Given the description of an element on the screen output the (x, y) to click on. 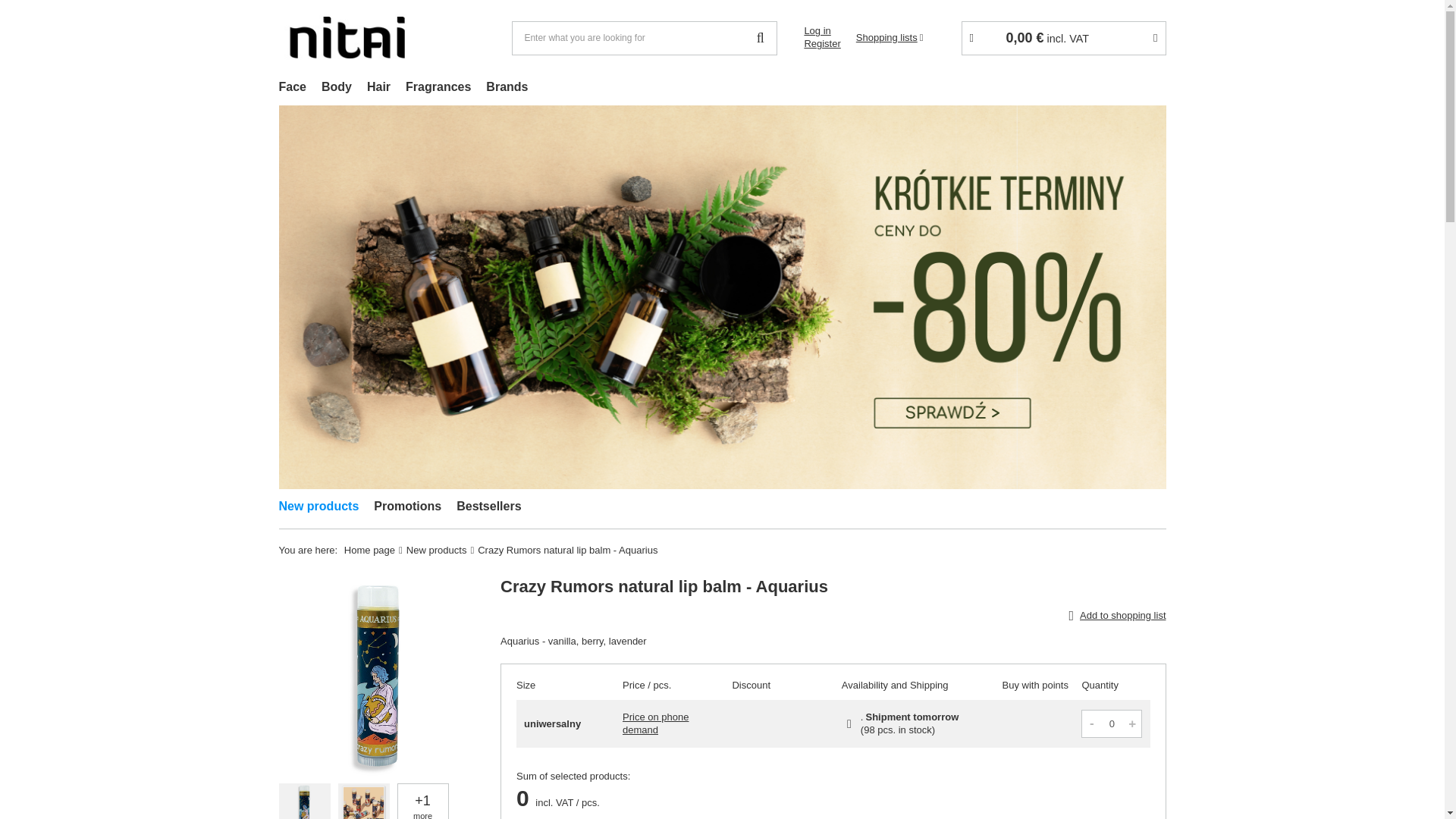
Log in (821, 31)
Register (821, 43)
Shopping lists (889, 37)
Hair (378, 88)
Body (336, 88)
Face (292, 88)
Face (292, 88)
Body (336, 88)
